Given the description of an element on the screen output the (x, y) to click on. 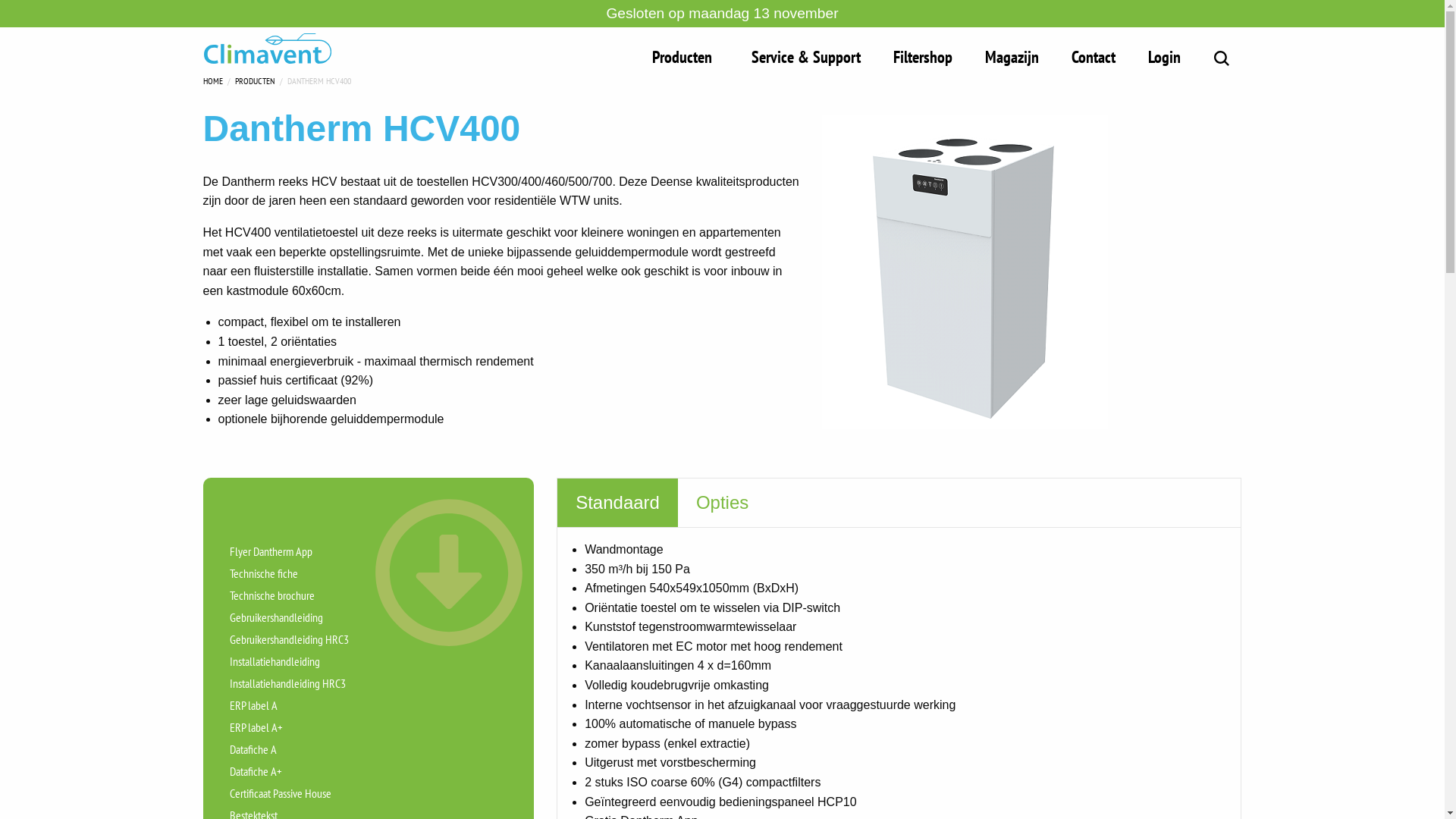
Datafiche A Element type: text (368, 747)
ERP label A+ Element type: text (368, 725)
Filtershop Element type: text (922, 52)
Technische fiche Element type: text (368, 571)
Gebruikershandleiding HRC3 Element type: text (368, 637)
Installatiehandleiding HRC3 Element type: text (368, 681)
Login Element type: text (1163, 52)
Magazijn Element type: text (1011, 52)
Contact Element type: text (1093, 52)
ERP label A Element type: text (368, 703)
PRODUCTEN Element type: text (254, 78)
Certificaat Passive House Element type: text (368, 791)
Flyer Dantherm App Element type: text (368, 549)
Installatiehandleiding Element type: text (368, 659)
Technische brochure Element type: text (368, 593)
Gebruikershandleiding Element type: text (368, 615)
HOME Element type: text (212, 78)
Datafiche A+ Element type: text (368, 769)
Service & Support Element type: text (805, 52)
Opties Element type: text (721, 502)
Producten Element type: text (685, 52)
Standaard Element type: text (617, 502)
